Given the description of an element on the screen output the (x, y) to click on. 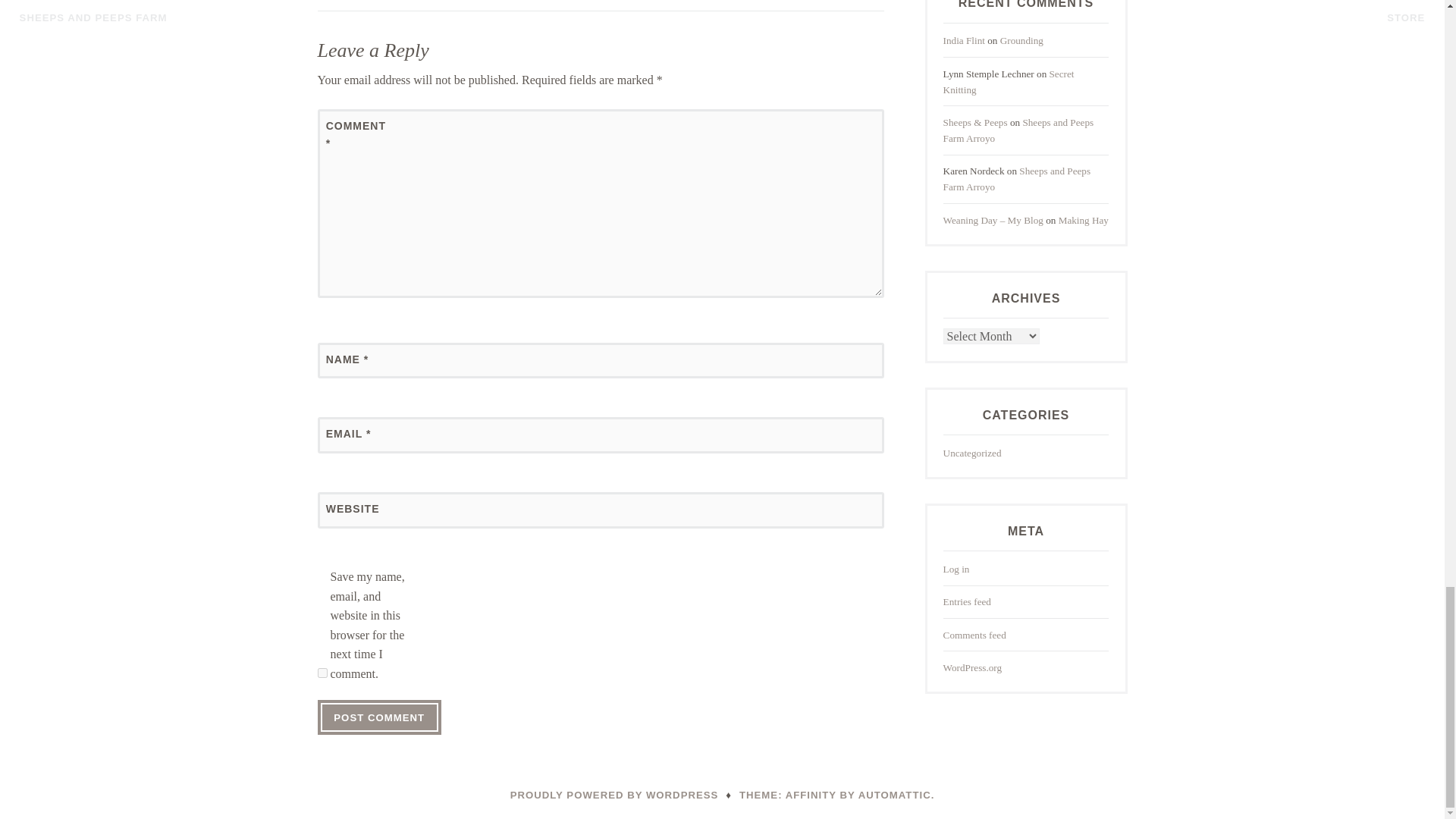
India Flint (964, 40)
Entries feed (967, 601)
PROUDLY POWERED BY WORDPRESS (615, 794)
Making Hay (1083, 220)
Sheeps and Peeps Farm Arroyo (1018, 130)
AUTOMATTIC (895, 794)
Post Comment (379, 717)
Post Comment (379, 717)
WordPress.org (972, 667)
Log in (956, 568)
Grounding (1021, 40)
Secret Knitting (1008, 81)
Comments feed (974, 634)
yes (321, 673)
Sheeps and Peeps Farm Arroyo (1016, 178)
